Given the description of an element on the screen output the (x, y) to click on. 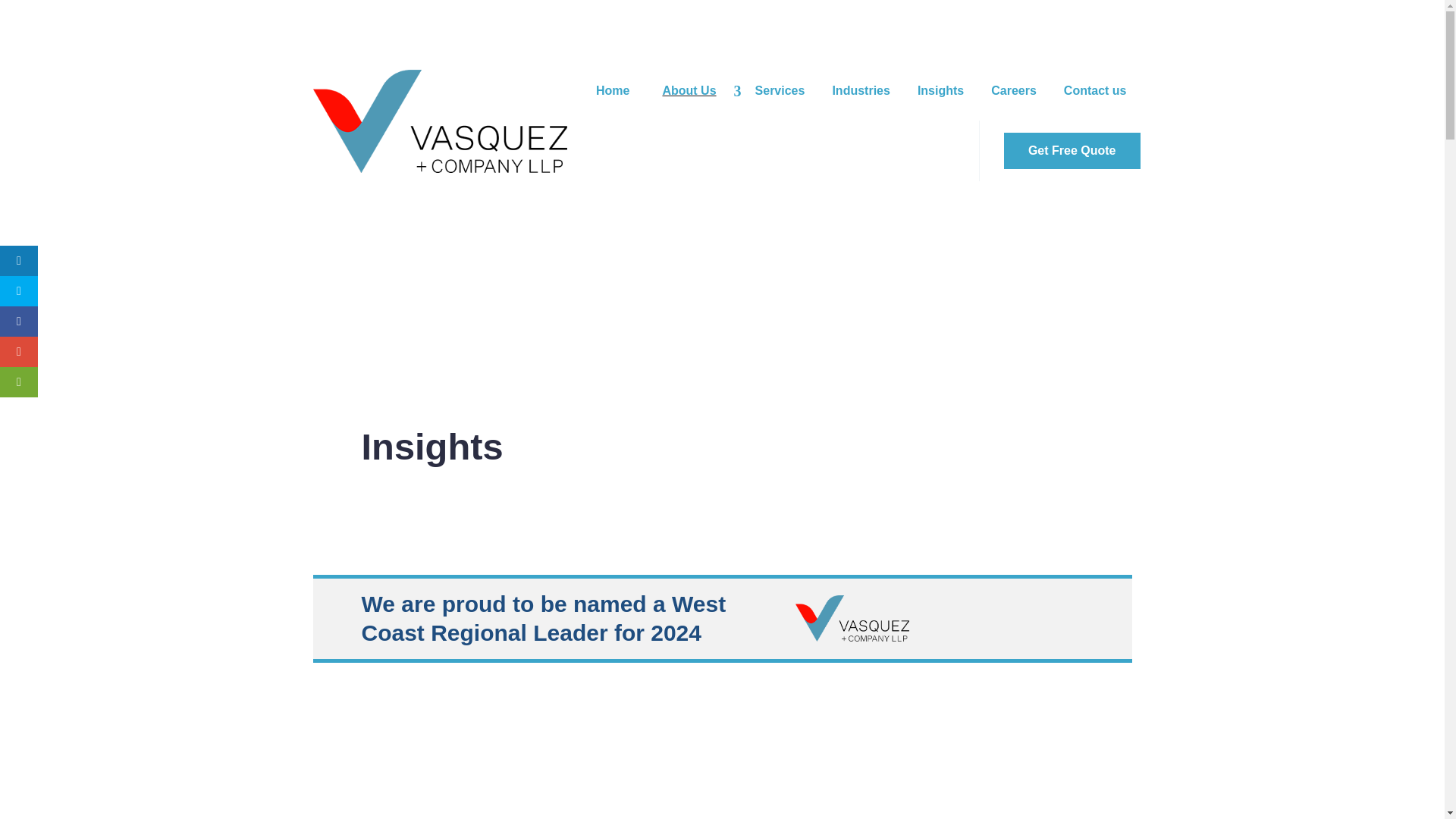
Industries (860, 90)
About Us (701, 90)
Get Free Quote (1072, 150)
Contact us (1095, 90)
